Given the description of an element on the screen output the (x, y) to click on. 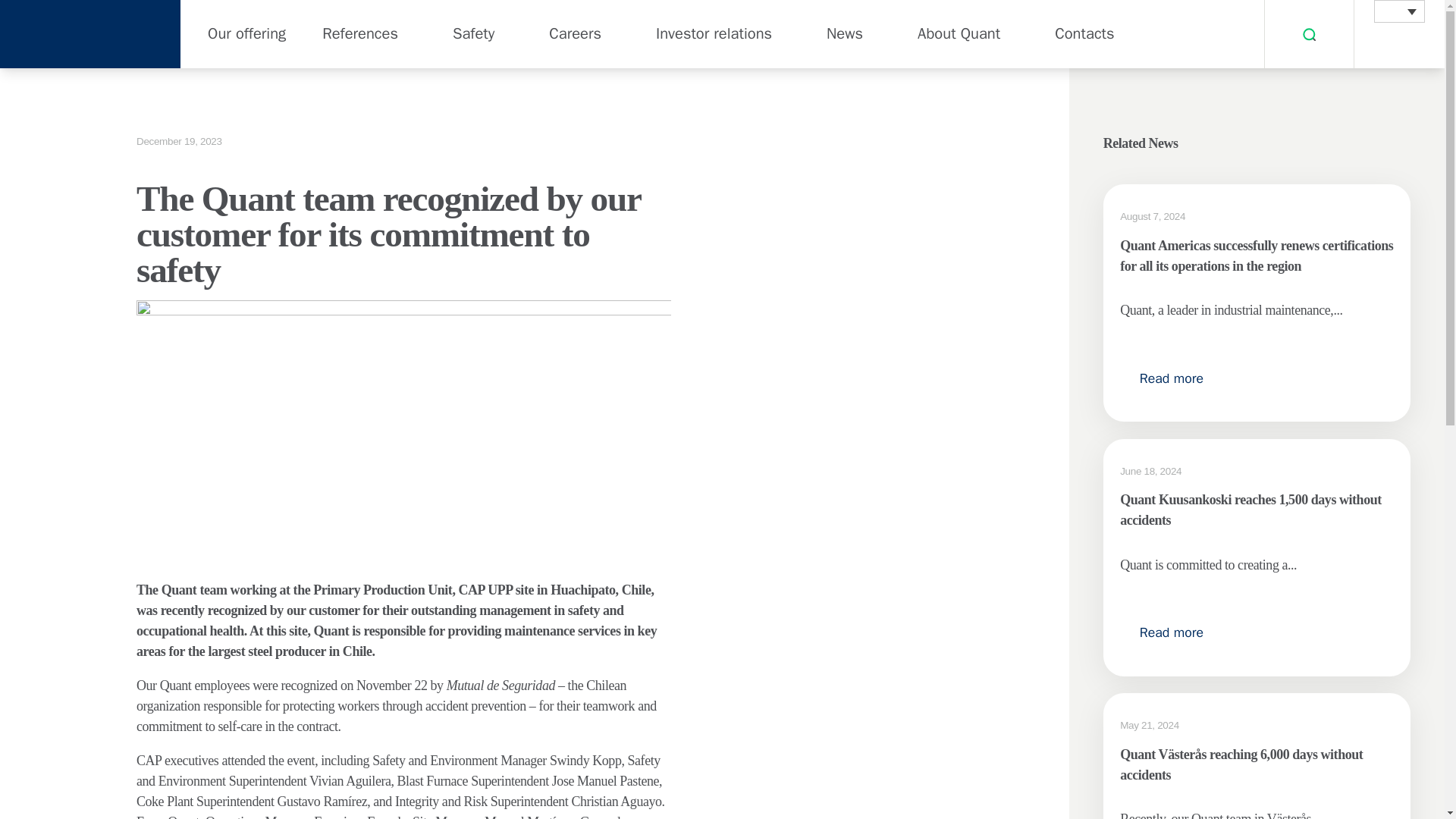
Careers (574, 33)
Contacts (1084, 33)
Investor relations (713, 33)
Safety (473, 33)
Our offering (237, 33)
News (844, 33)
About Quant (958, 33)
References (360, 33)
